Given the description of an element on the screen output the (x, y) to click on. 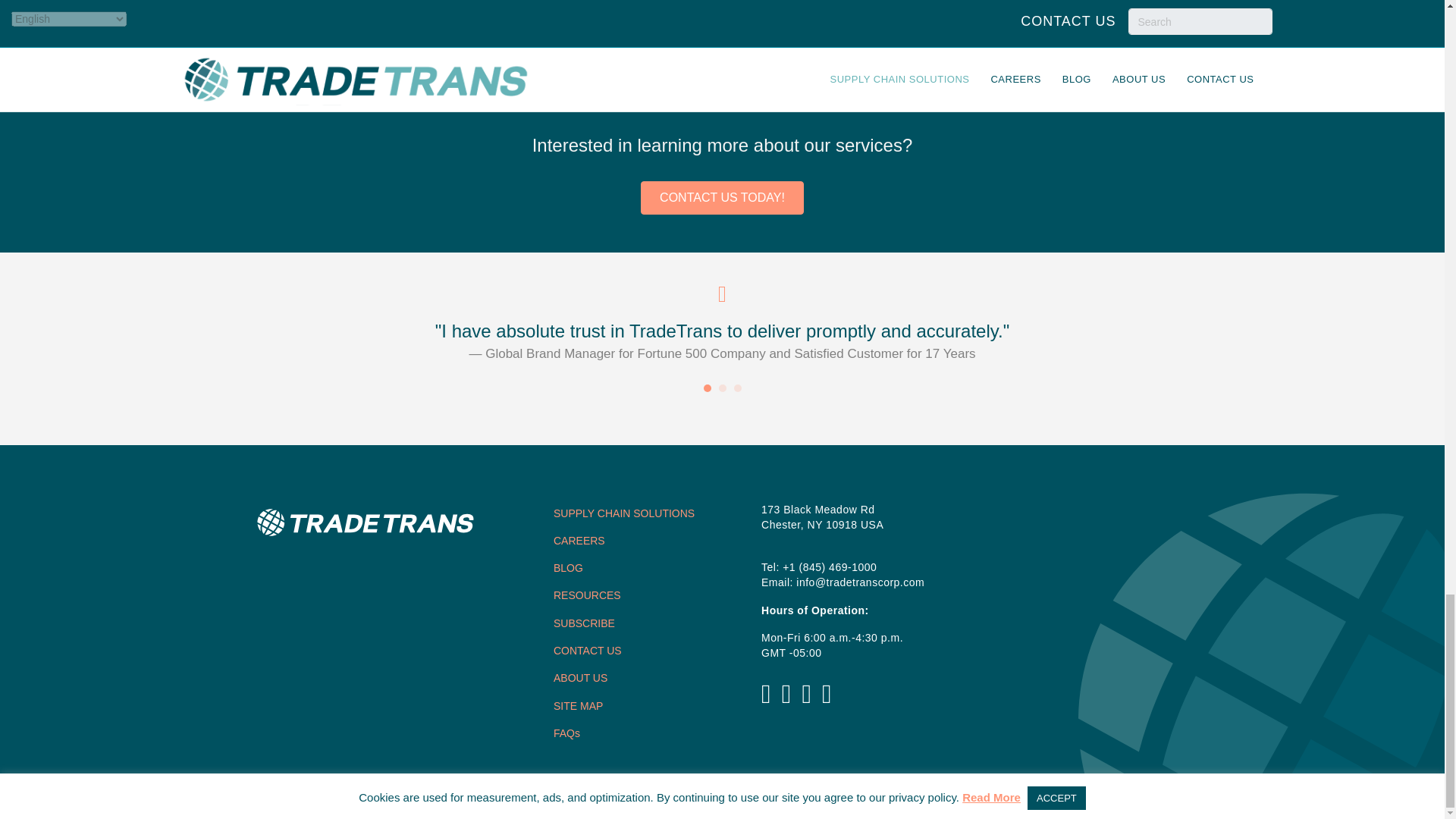
SITE MAP (577, 705)
RESOURCES (587, 594)
2 (722, 388)
SUBSCRIBE (583, 623)
CAREERS (579, 540)
TradeTrans Logo footer (364, 522)
1 (707, 388)
FAQs (566, 733)
CONTACT US (587, 650)
BLOG (568, 567)
3 (737, 388)
CONTACT US TODAY! (721, 197)
ABOUT US (580, 677)
SUPPLY CHAIN SOLUTIONS (623, 512)
